Given the description of an element on the screen output the (x, y) to click on. 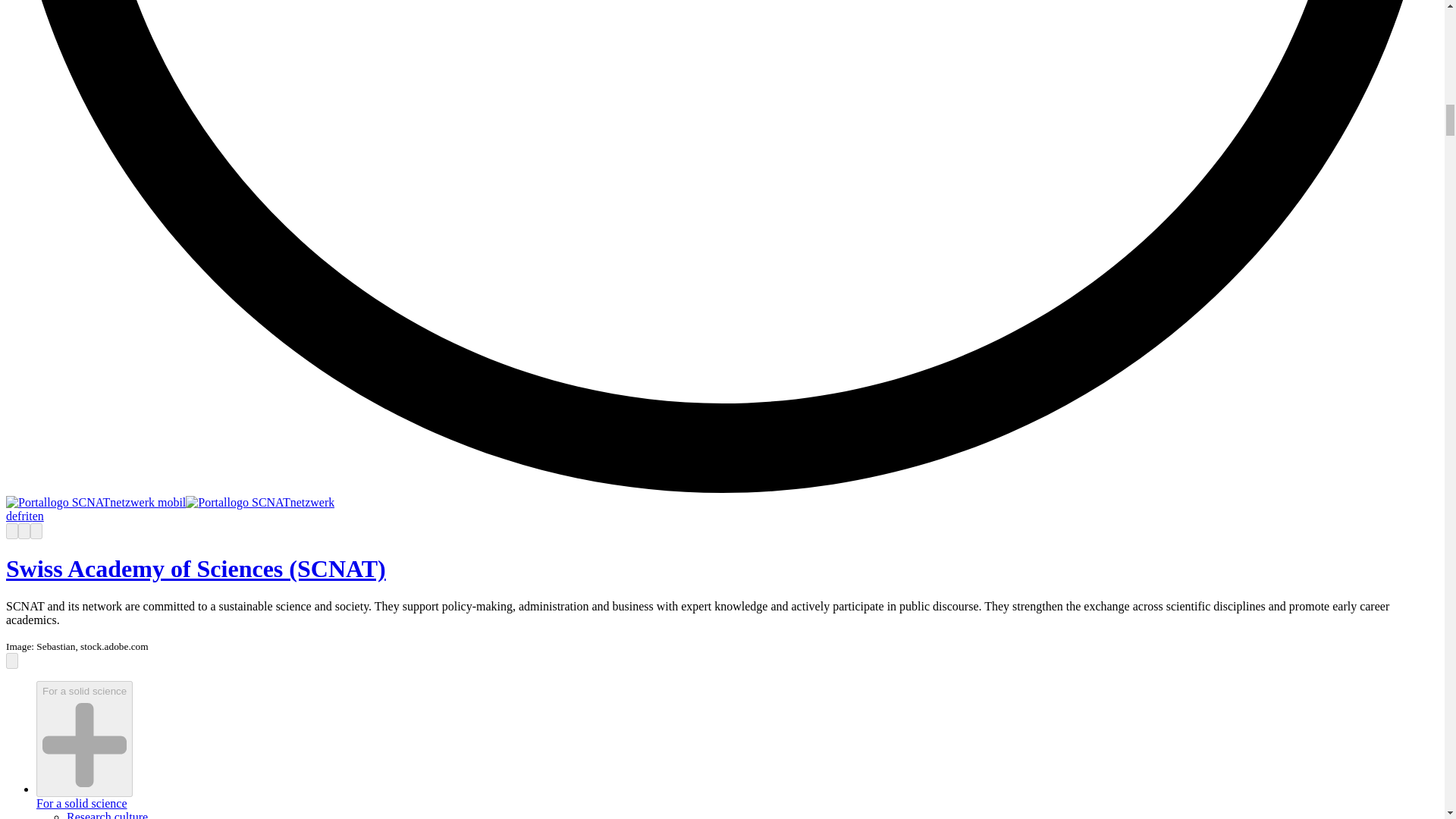
For a solid science (82, 802)
Research culture (107, 814)
Search (23, 530)
en (37, 515)
fr (21, 515)
Menu (36, 530)
it (29, 515)
Network (11, 530)
For a solid science (84, 738)
de (11, 515)
